Given the description of an element on the screen output the (x, y) to click on. 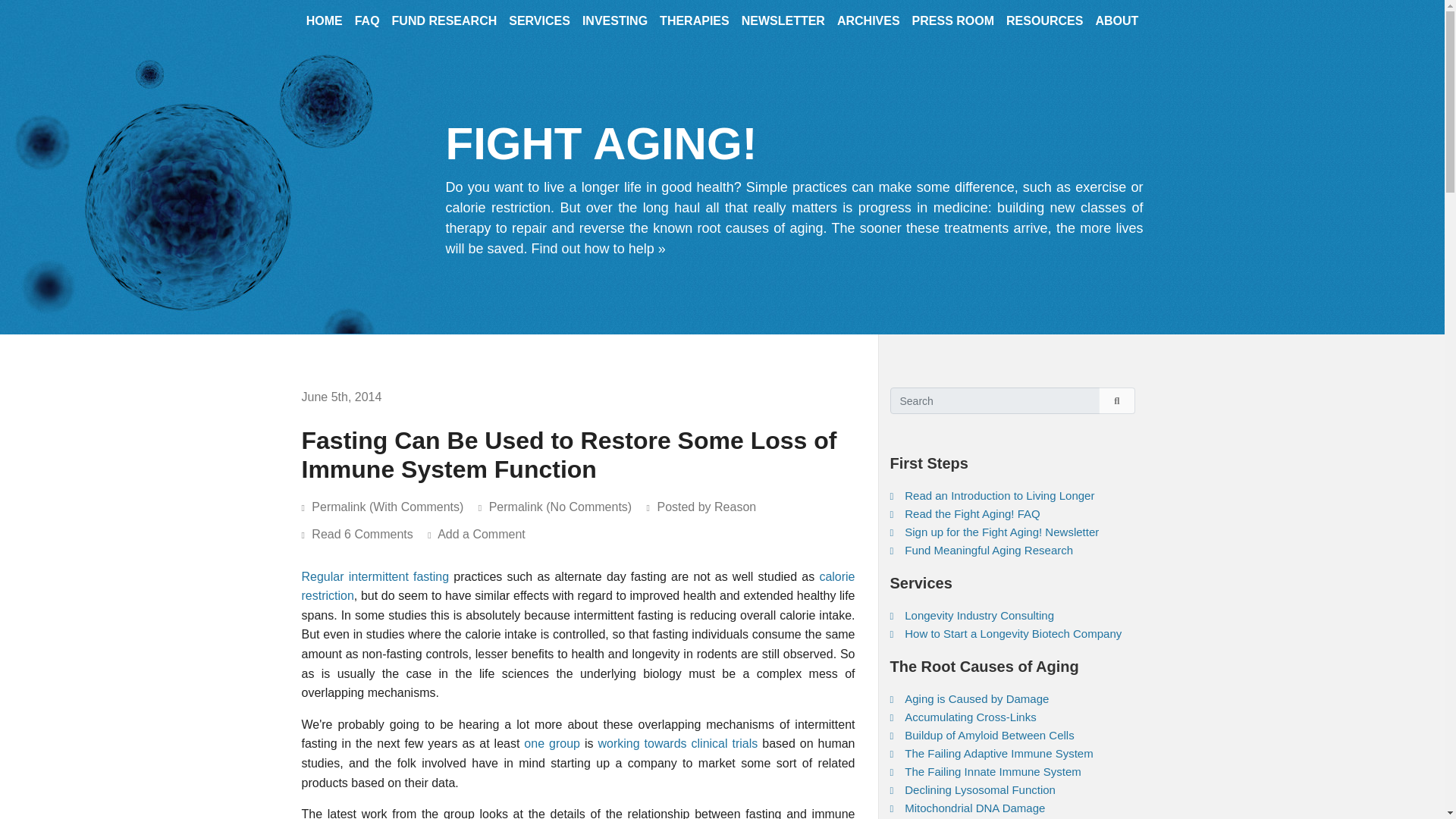
calorie restriction (578, 586)
SERVICES (539, 26)
FUND RESEARCH (444, 26)
INVESTING (614, 26)
PRESS ROOM (952, 26)
FAQ (367, 26)
HOME (324, 26)
ABOUT (1116, 26)
Add a Comment (487, 533)
working towards clinical trials (676, 743)
